Given the description of an element on the screen output the (x, y) to click on. 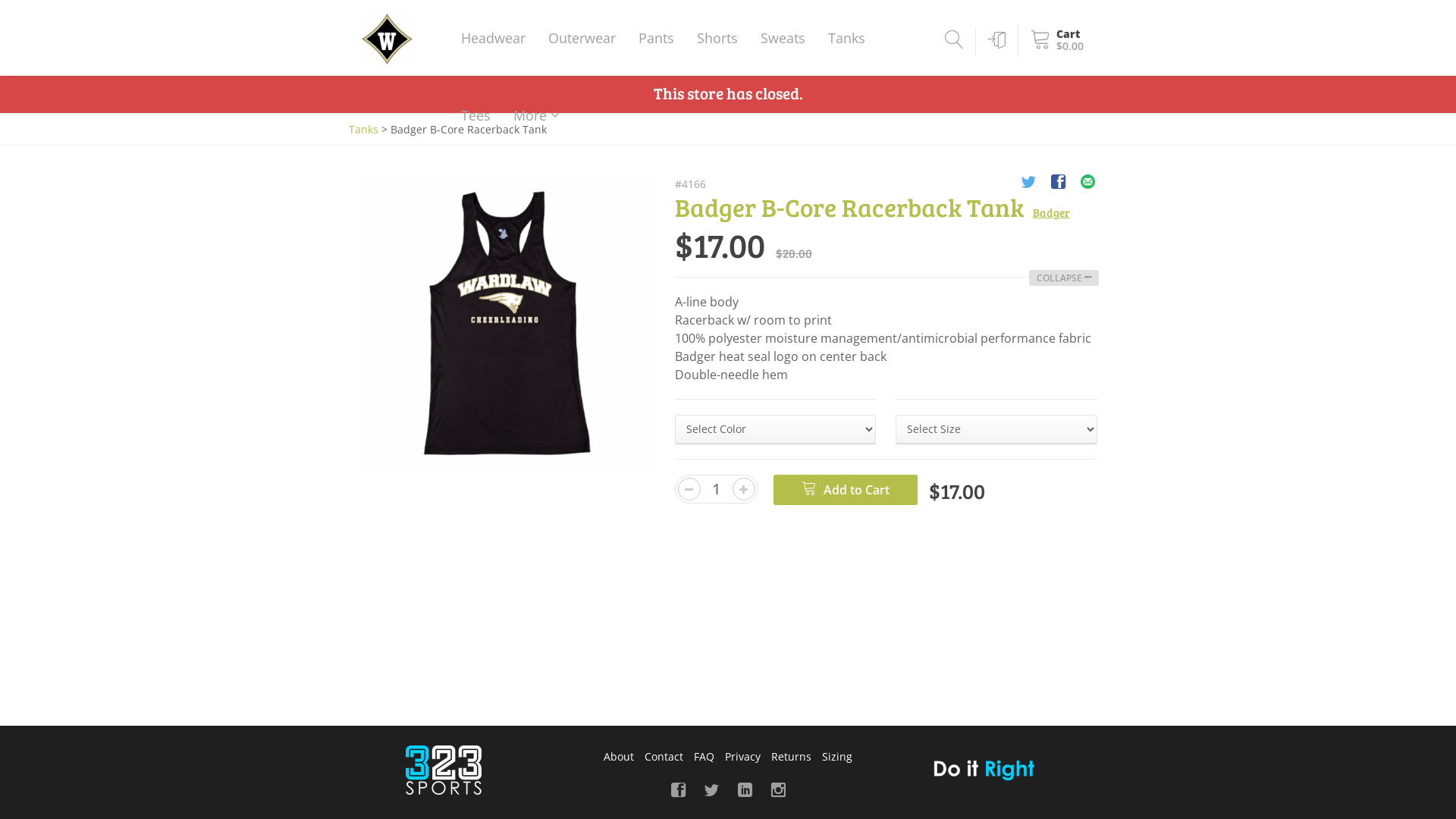
Log In Element type: hover (993, 39)
Tanks Element type: text (846, 37)
Headwear Element type: text (492, 37)
Cart
$0.00 Element type: text (1053, 40)
Sweats Element type: text (782, 37)
Badger Element type: text (1051, 212)
#4166 Element type: text (690, 183)
Outerwear Element type: text (581, 37)
Share on Twitter Element type: hover (1028, 183)
Privacy Element type: text (742, 755)
Tanks Element type: text (363, 128)
Pants Element type: text (656, 37)
About Element type: text (618, 755)
FAQ Element type: text (703, 755)
Add to Cart Element type: text (845, 489)
Contact Element type: text (663, 755)
Tees Element type: text (475, 115)
Sizing Element type: text (837, 755)
Search Element type: hover (951, 39)
Returns Element type: text (791, 755)
Shorts Element type: text (717, 37)
Share on Facebook Element type: hover (1057, 183)
Wardlaw Academy Cheer Store Element type: hover (386, 38)
More Element type: text (536, 115)
